Given the description of an element on the screen output the (x, y) to click on. 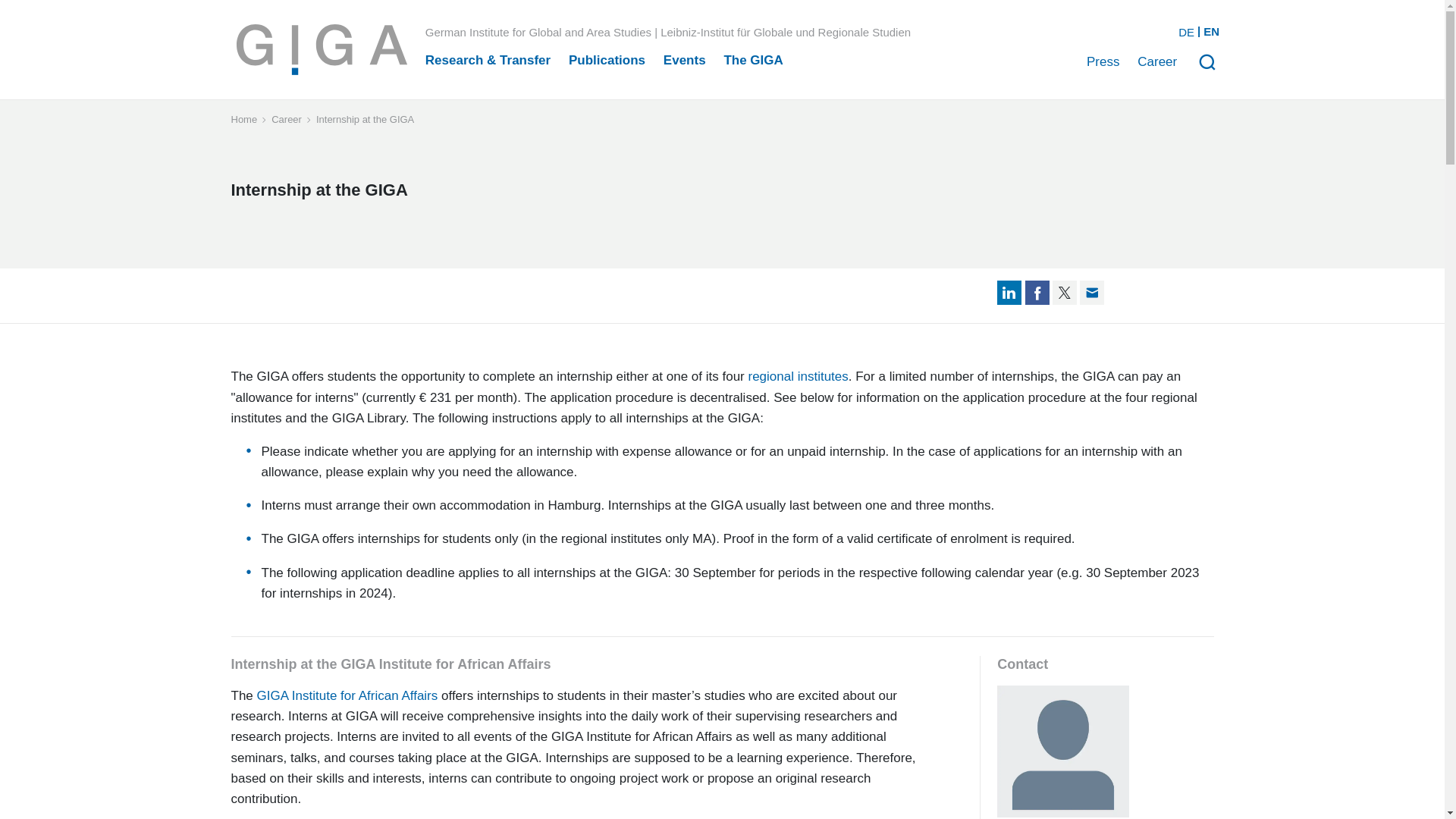
Events (684, 60)
Publications (607, 60)
The GIGA (753, 60)
